Given the description of an element on the screen output the (x, y) to click on. 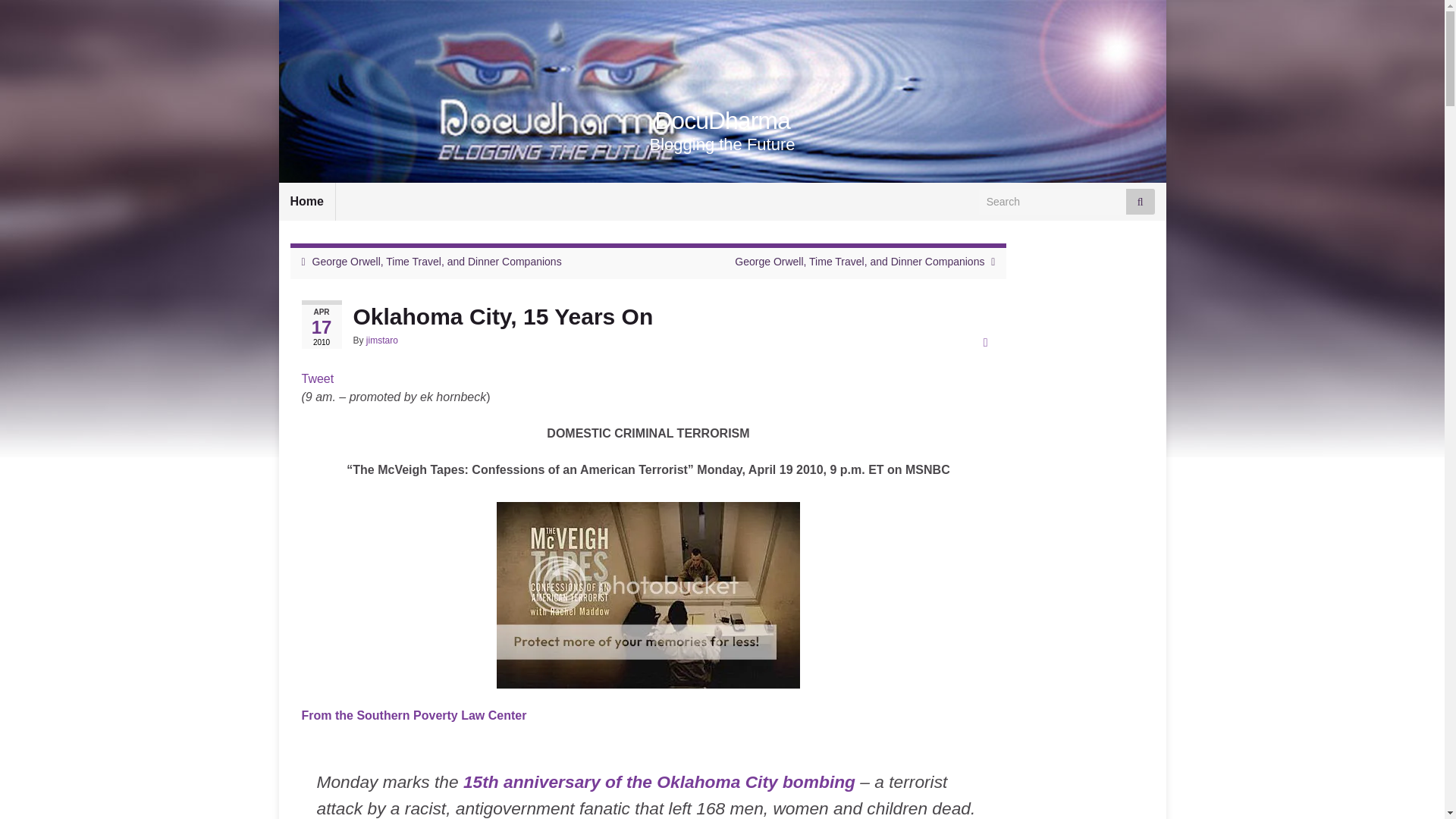
jimstaro (381, 339)
Home (306, 201)
George Orwell, Time Travel, and Dinner Companions (437, 261)
George Orwell, Time Travel, and Dinner Companions (859, 261)
Tweet (317, 378)
DocuDharma (721, 120)
15th anniversary of the Oklahoma City bombing (659, 781)
Go back to the front page (721, 120)
From the Southern Poverty Law Center (414, 715)
